Given the description of an element on the screen output the (x, y) to click on. 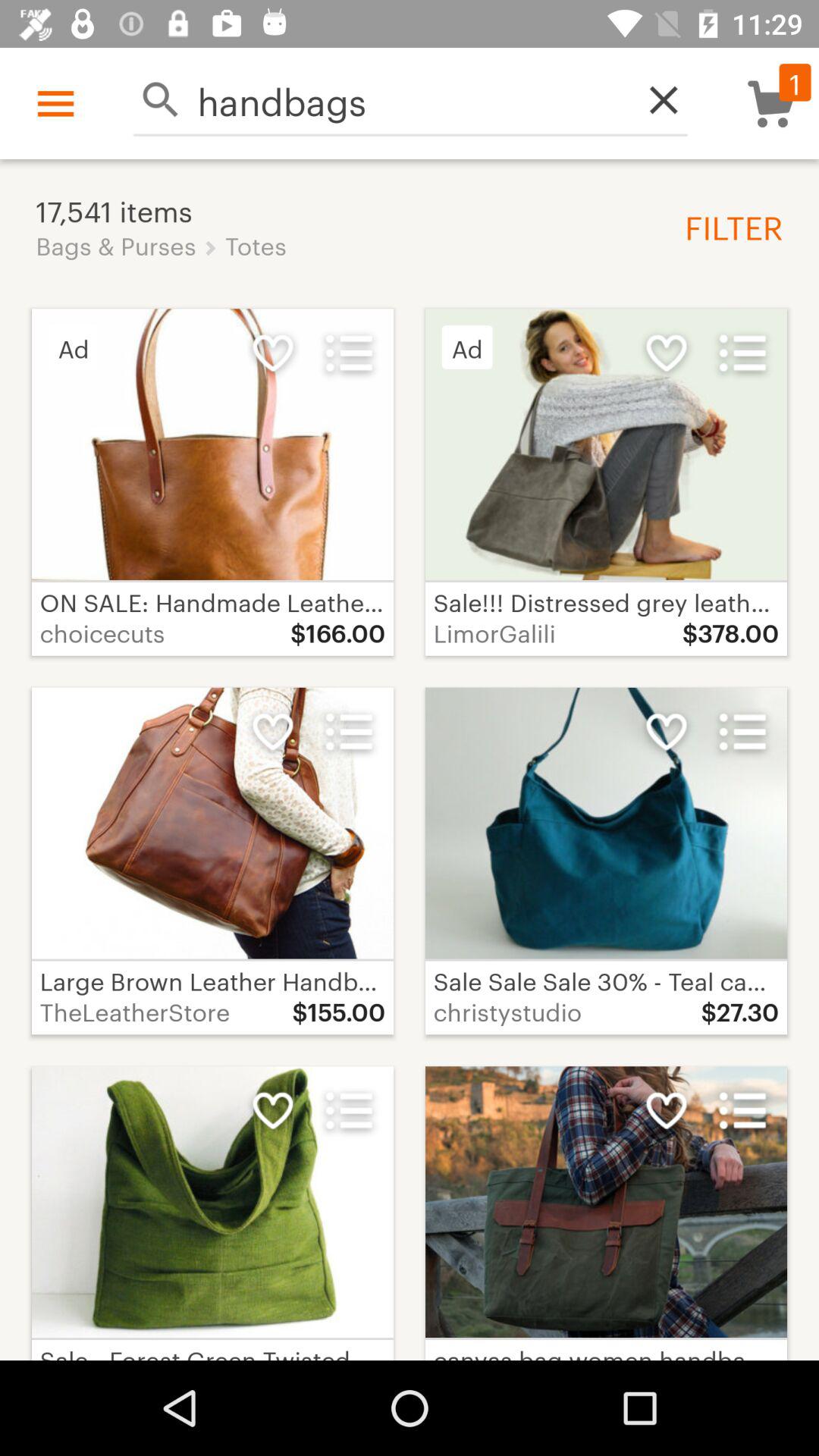
turn on handbags icon (410, 99)
